Given the description of an element on the screen output the (x, y) to click on. 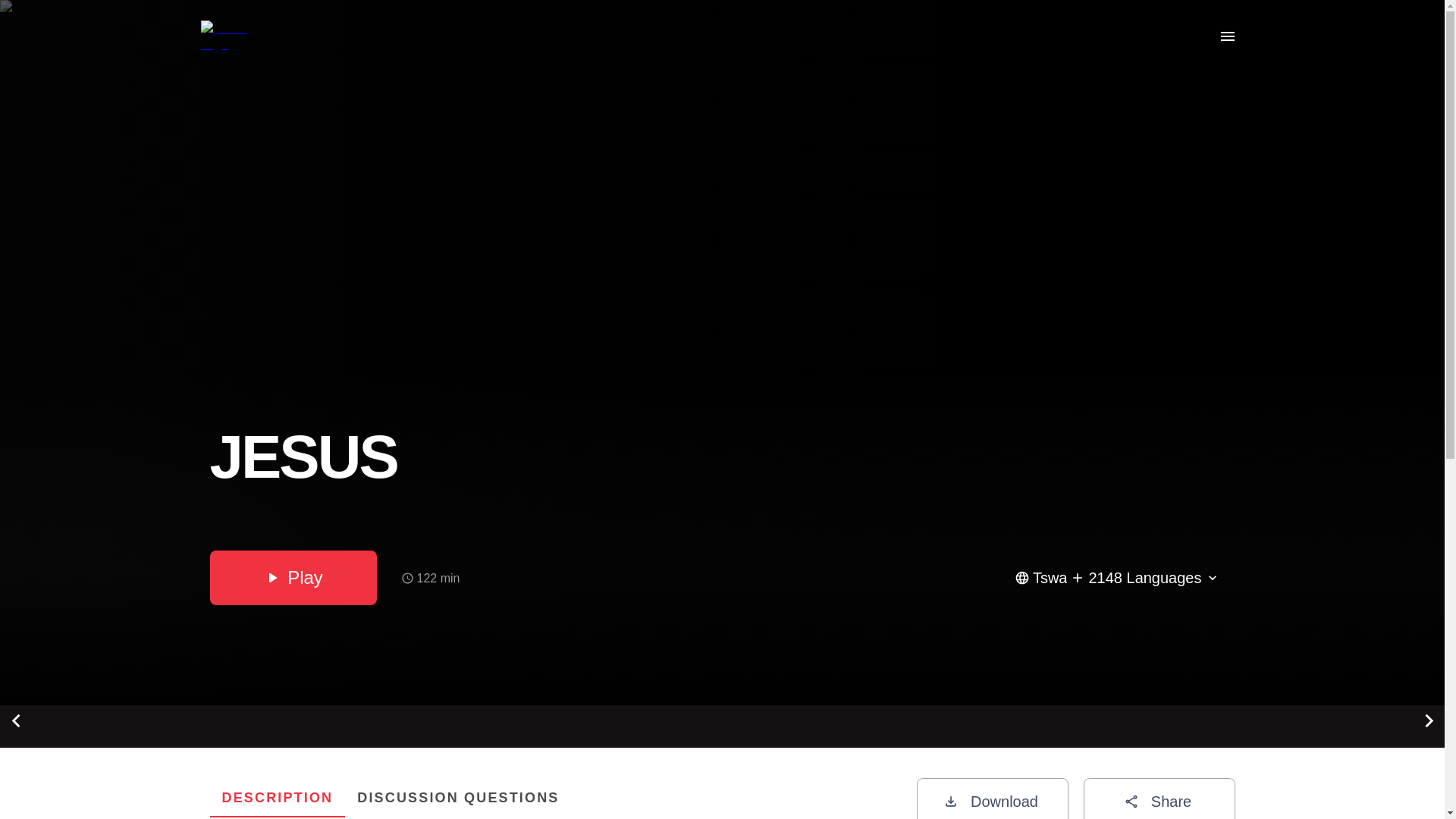
Share (1158, 798)
DESCRIPTION (277, 797)
DISCUSSION QUESTIONS (547, 797)
Download (457, 797)
Play (991, 798)
